Given the description of an element on the screen output the (x, y) to click on. 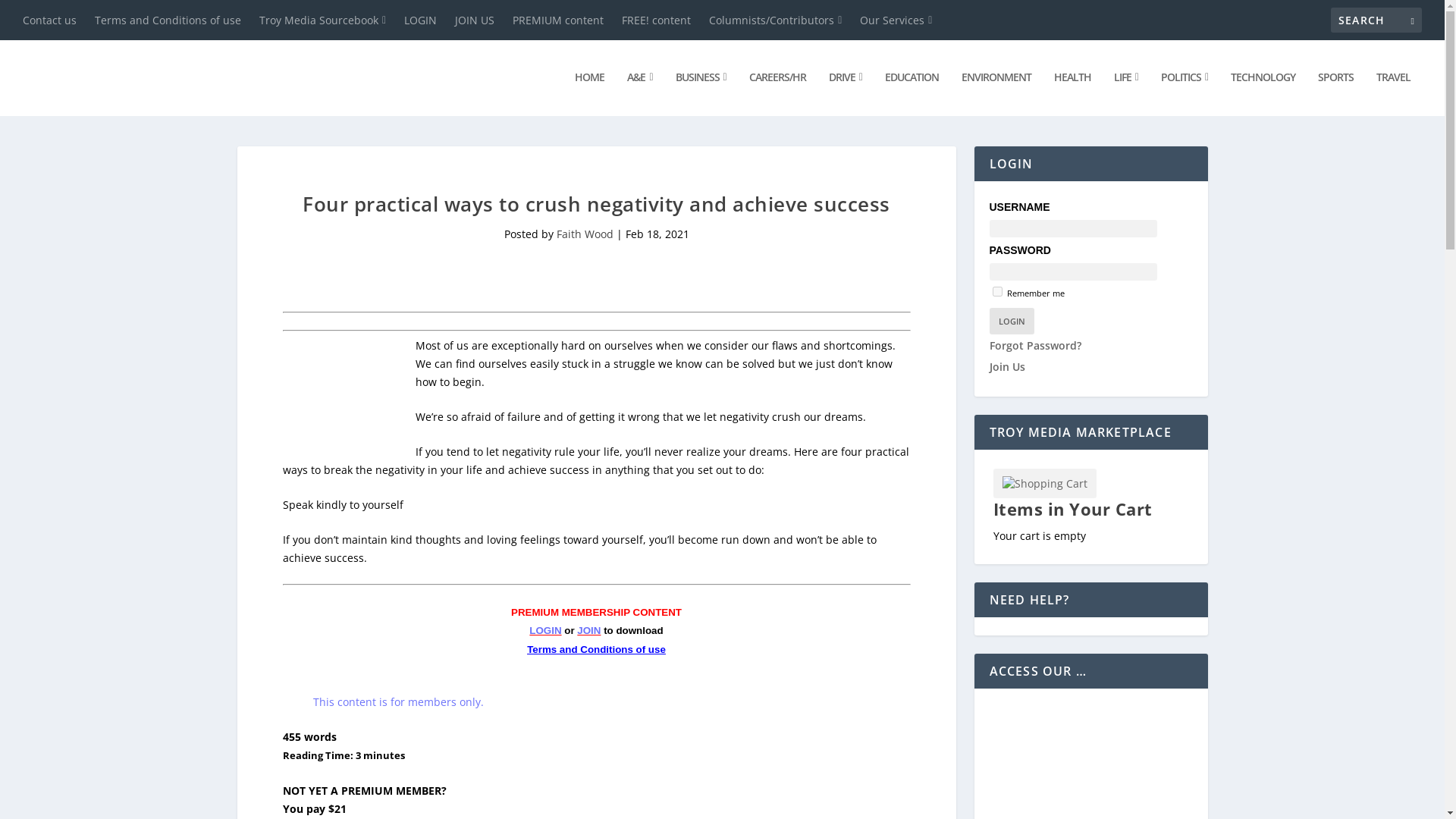
EDUCATION (912, 93)
JOIN US (474, 20)
forever (996, 291)
Search for: (1376, 19)
Shopping Cart (1044, 482)
Posts by Faith Wood (584, 233)
Troy Media Sourcebook (322, 20)
Login (1010, 320)
ENVIRONMENT (995, 93)
PREMIUM content (558, 20)
Shopping Cart (1044, 482)
BUSINESS (700, 93)
Our Services (895, 20)
Terms and Conditions of use (167, 20)
FREE! content (655, 20)
